Given the description of an element on the screen output the (x, y) to click on. 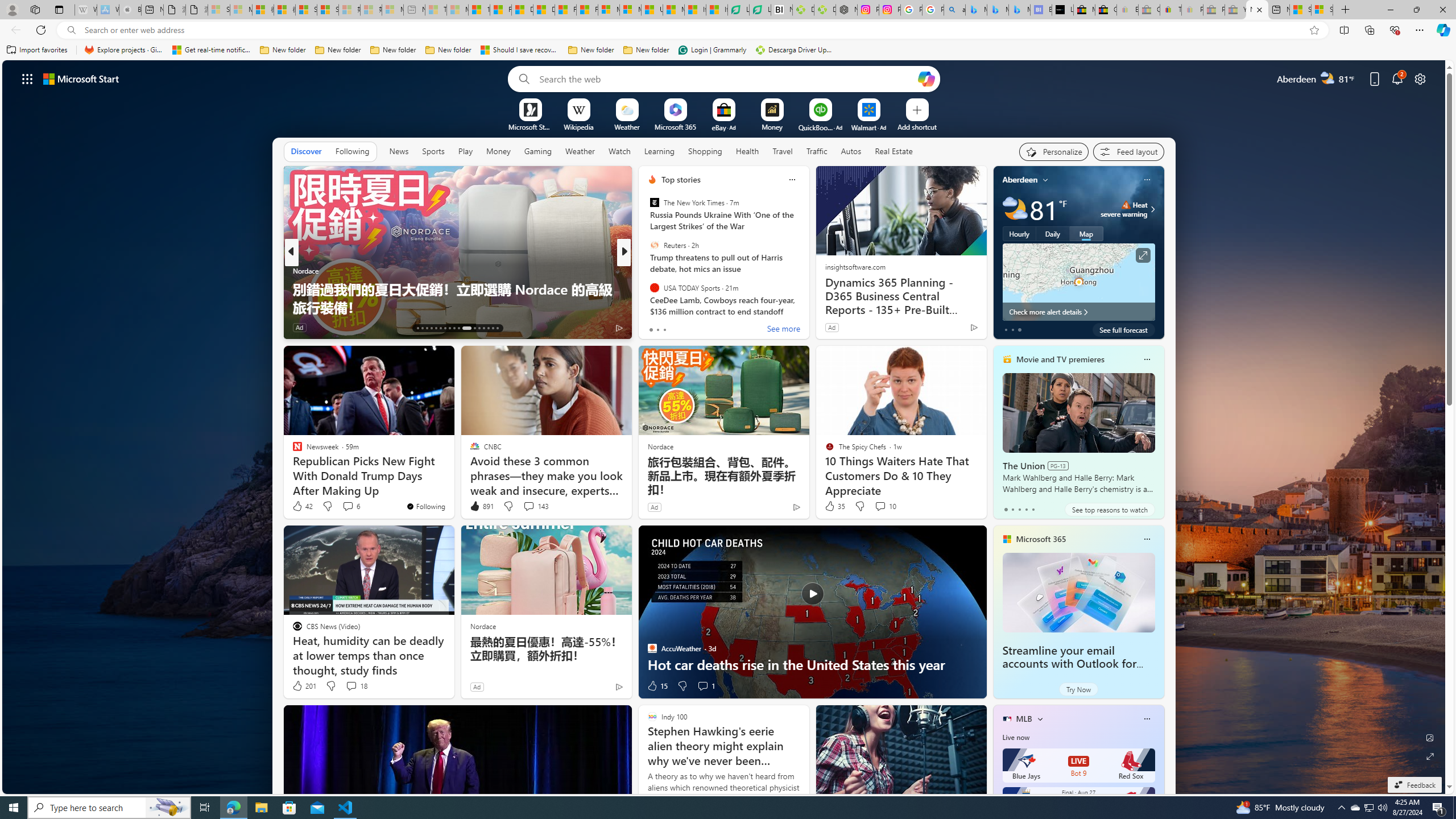
AutomationID: tab-25 (478, 328)
View comments 18 Comment (350, 685)
Gaming (537, 151)
Partly cloudy (1014, 208)
To get missing image descriptions, open the context menu. (529, 109)
AutomationID: tab-24 (474, 328)
Watch (619, 151)
Import favorites (36, 49)
Larger map  (1077, 282)
255 Like (654, 327)
View comments 1 Comment (703, 685)
